Given the description of an element on the screen output the (x, y) to click on. 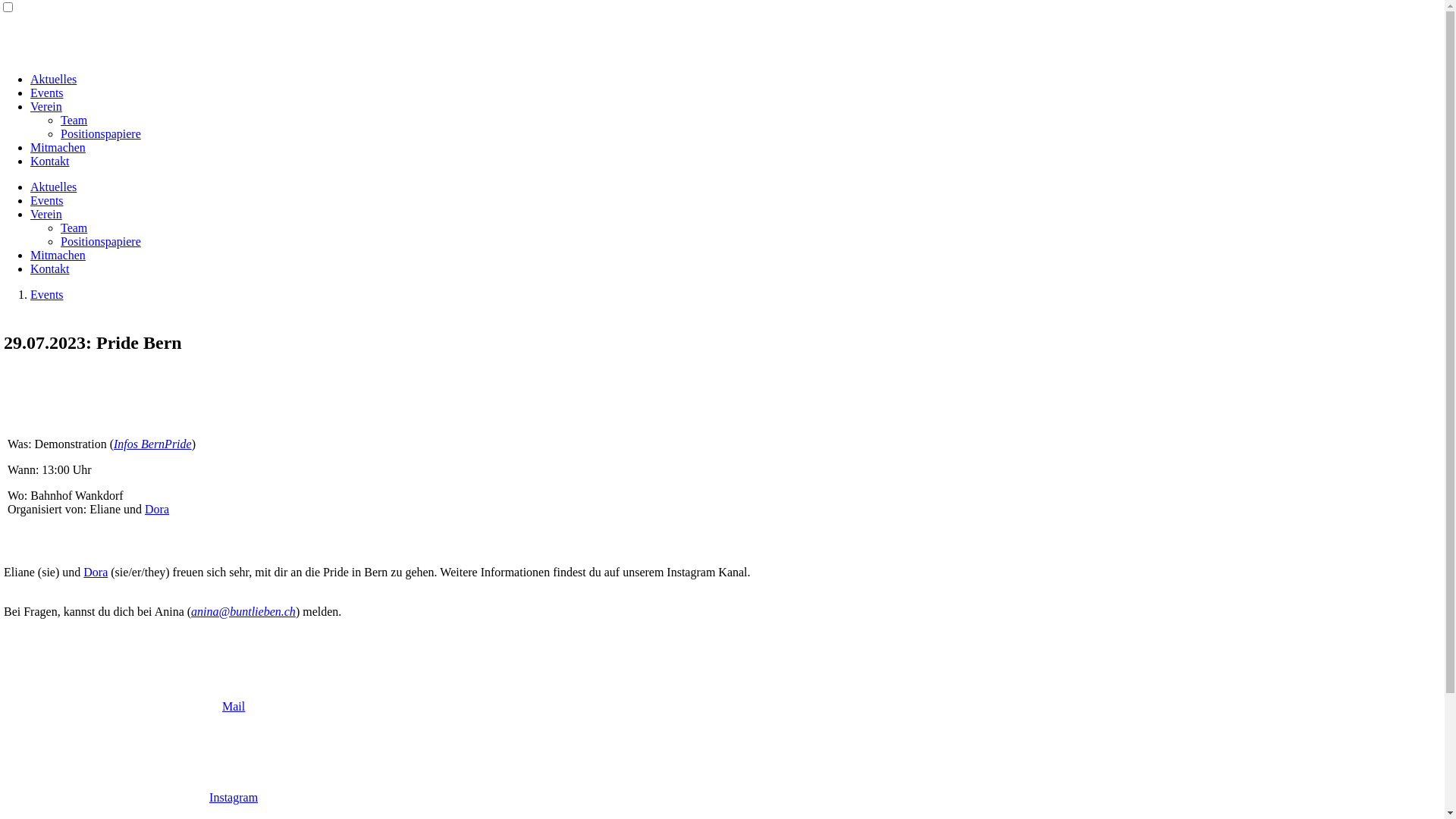
Mail Element type: text (233, 705)
anina@buntlieben.ch Element type: text (243, 611)
Instagram Element type: text (233, 796)
Events Element type: text (46, 294)
Aktuelles Element type: text (53, 78)
Dora Element type: text (95, 571)
Aktuelles Element type: text (53, 186)
Infos BernPride Element type: text (152, 443)
Team Element type: text (73, 119)
Verein Element type: text (46, 106)
Positionspapiere Element type: text (100, 133)
Kontakt Element type: text (49, 160)
Events Element type: text (46, 92)
Dora Element type: text (156, 508)
Kontakt Element type: text (49, 268)
Events Element type: text (46, 200)
Team Element type: text (73, 227)
Mitmachen Element type: text (57, 254)
Positionspapiere Element type: text (100, 241)
Mitmachen Element type: text (57, 147)
Verein Element type: text (46, 213)
